Given the description of an element on the screen output the (x, y) to click on. 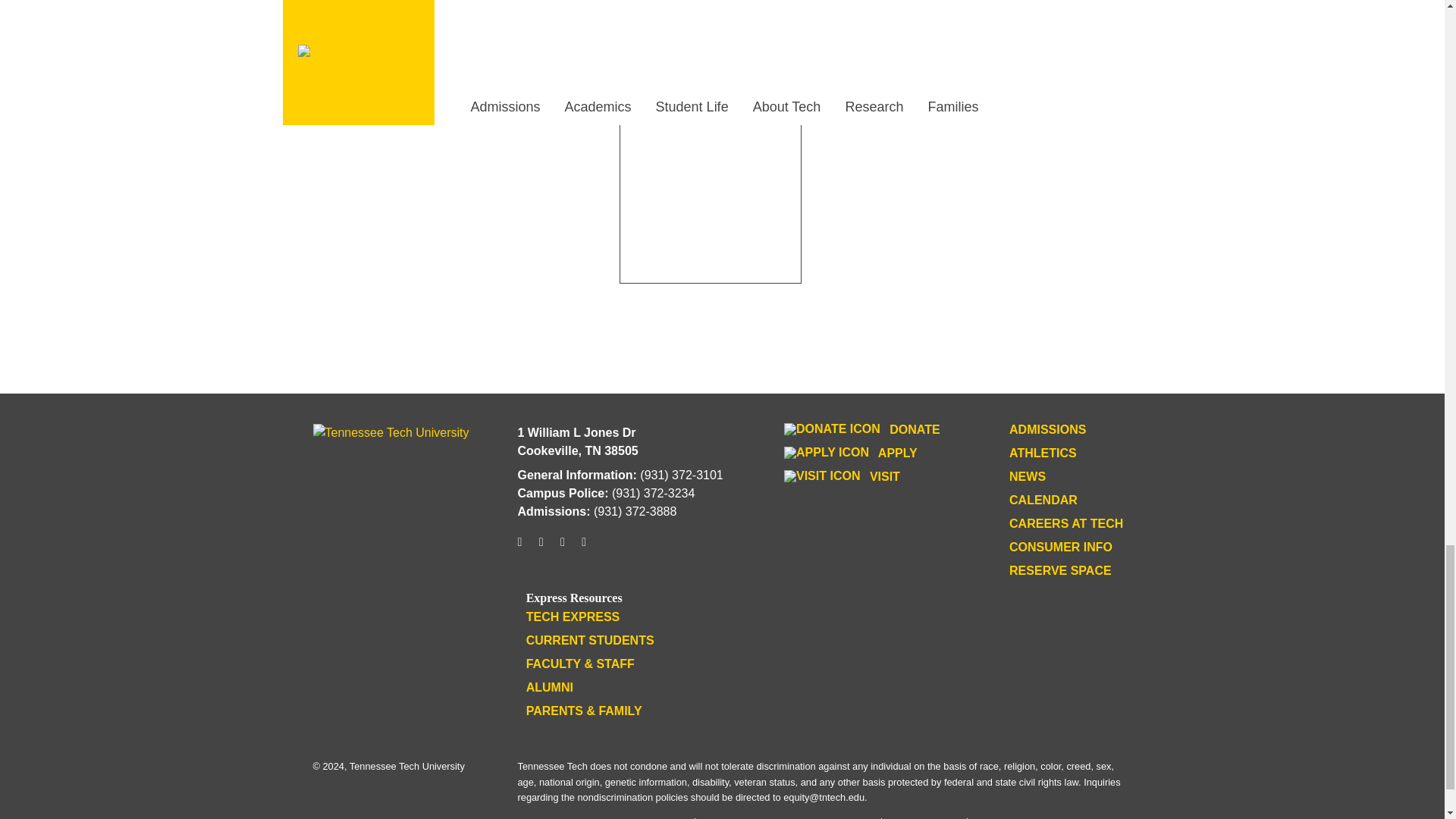
Email (583, 547)
YouTube (562, 547)
Facebook (541, 547)
